Given the description of an element on the screen output the (x, y) to click on. 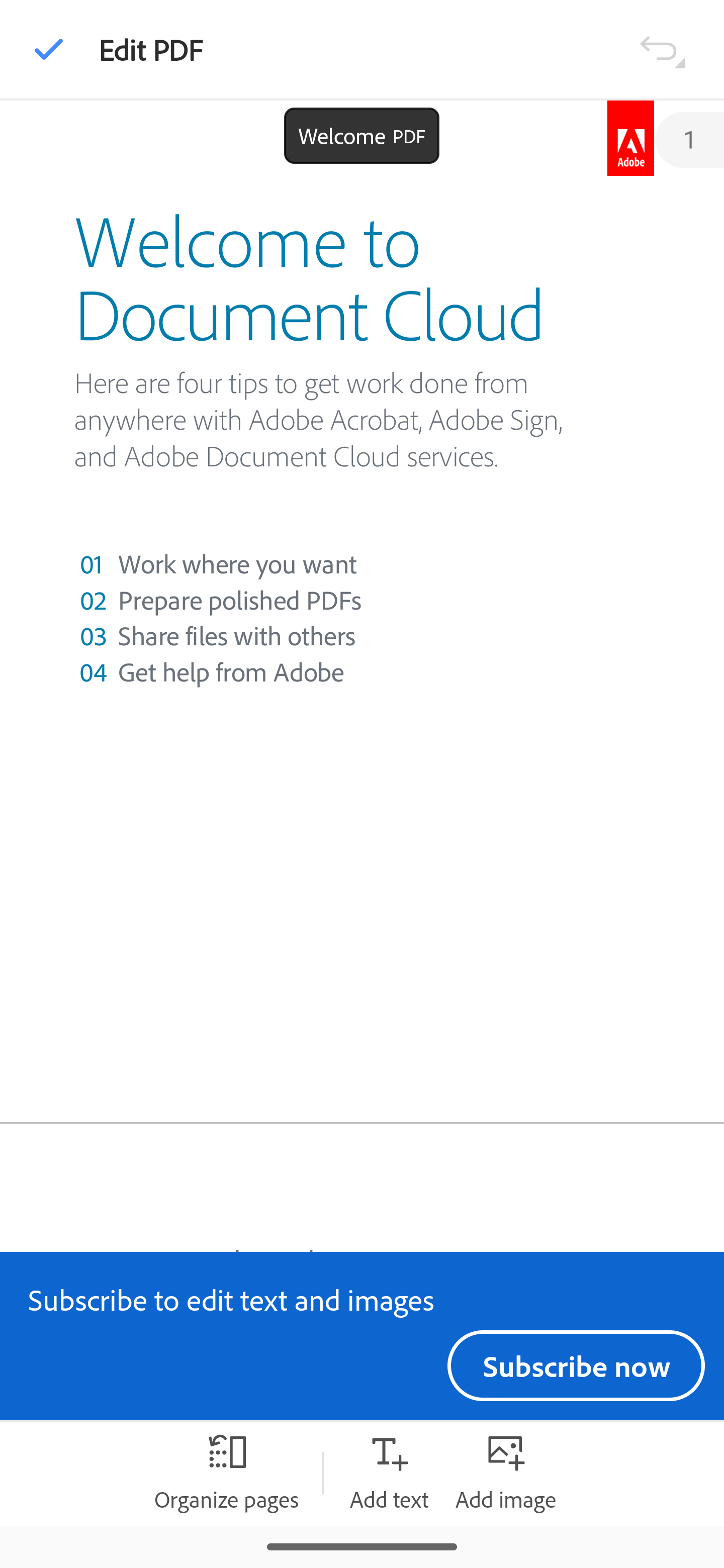
Done (49, 49)
Undo Disabled (662, 48)
Subscribe now (575, 1365)
Organize pages (226, 1472)
Organize pages Add text (389, 1472)
Organize pages Add image (505, 1472)
